Given the description of an element on the screen output the (x, y) to click on. 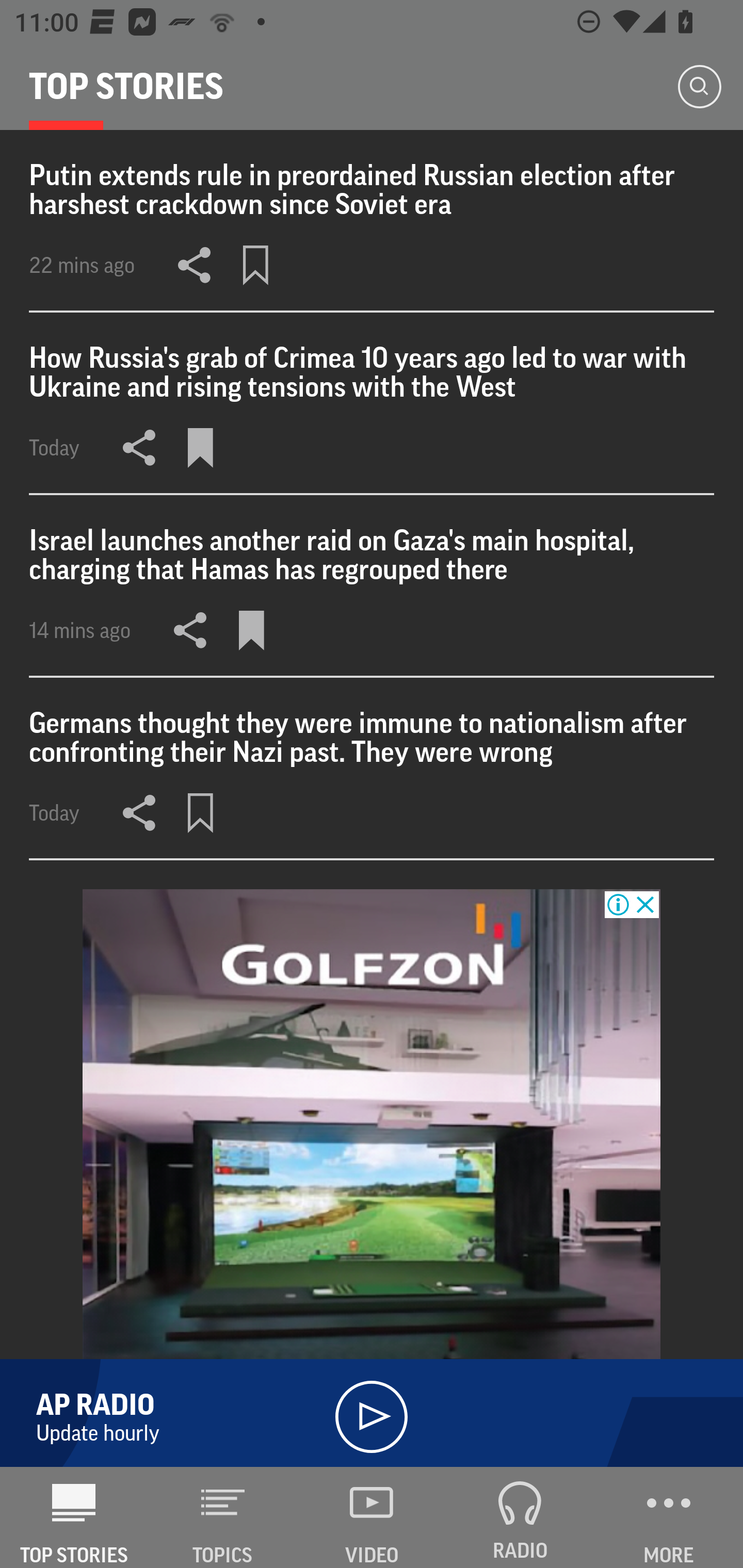
golfzonhk (371, 1178)
AP RADIO Update hourly (371, 1409)
AP News TOP STORIES (74, 1517)
TOPICS (222, 1517)
VIDEO (371, 1517)
RADIO (519, 1517)
MORE (668, 1517)
